Given the description of an element on the screen output the (x, y) to click on. 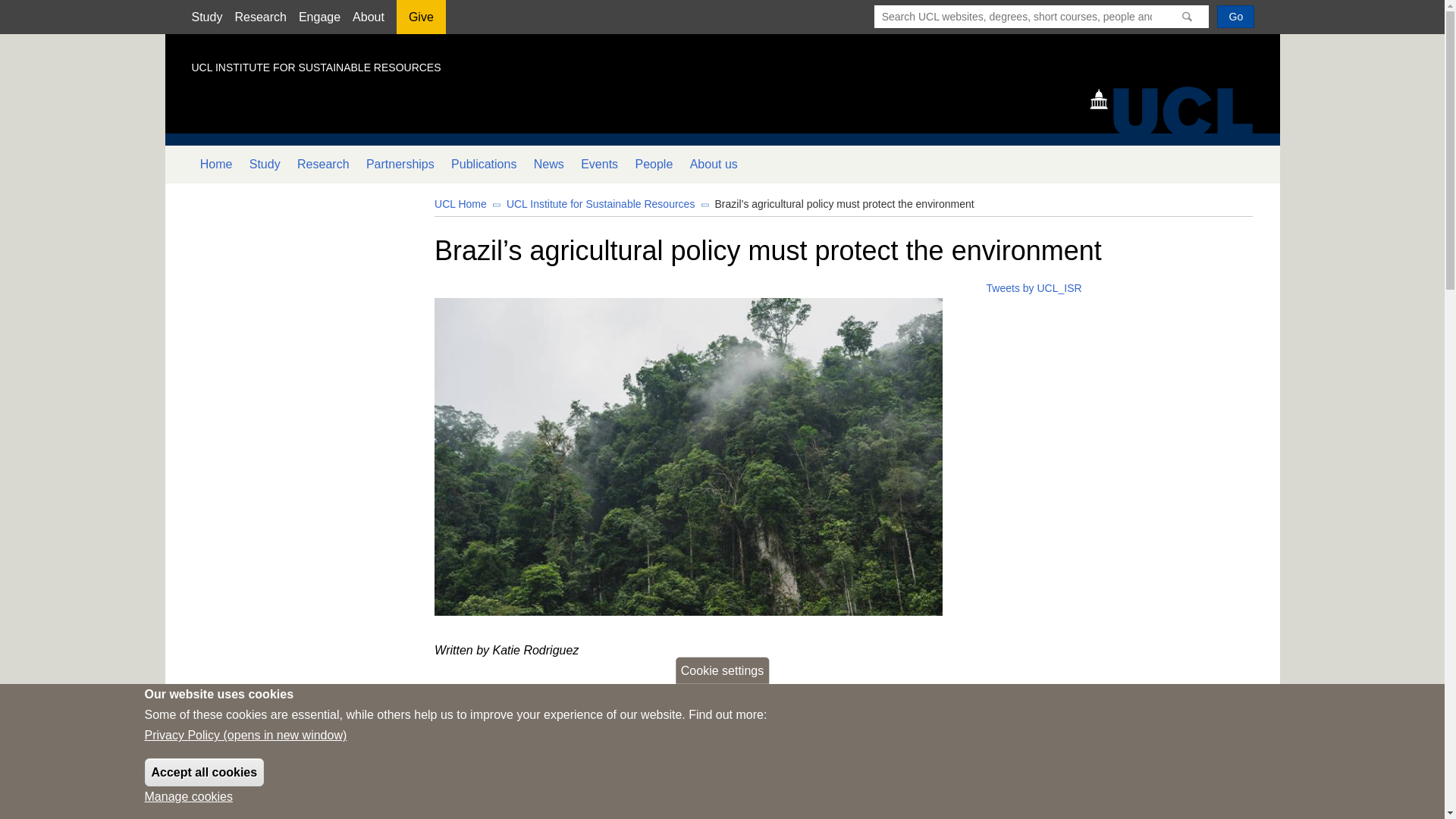
Engage (319, 16)
People (653, 164)
UCL Institute for Sustainable Resources (600, 203)
News (548, 164)
About us (713, 164)
Give (420, 22)
Go (1235, 15)
UCL Home (459, 203)
Research (323, 164)
Research (259, 16)
Go (1235, 15)
Go (1235, 15)
Home (215, 164)
Study (264, 164)
Home (1178, 108)
